Given the description of an element on the screen output the (x, y) to click on. 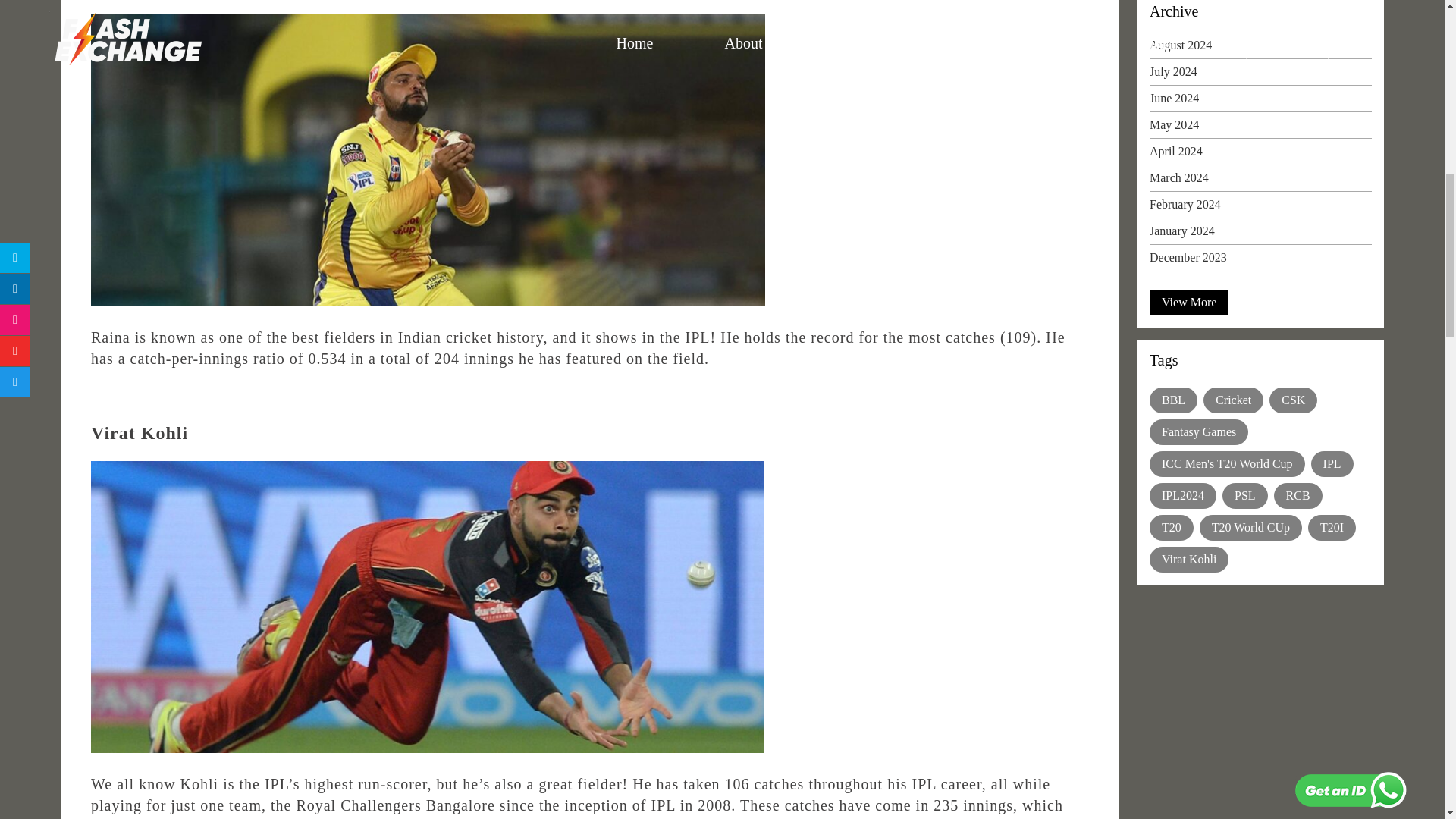
July 2024 (1260, 75)
May 2024 (1260, 127)
August 2024 (1260, 48)
June 2024 (1260, 101)
